Given the description of an element on the screen output the (x, y) to click on. 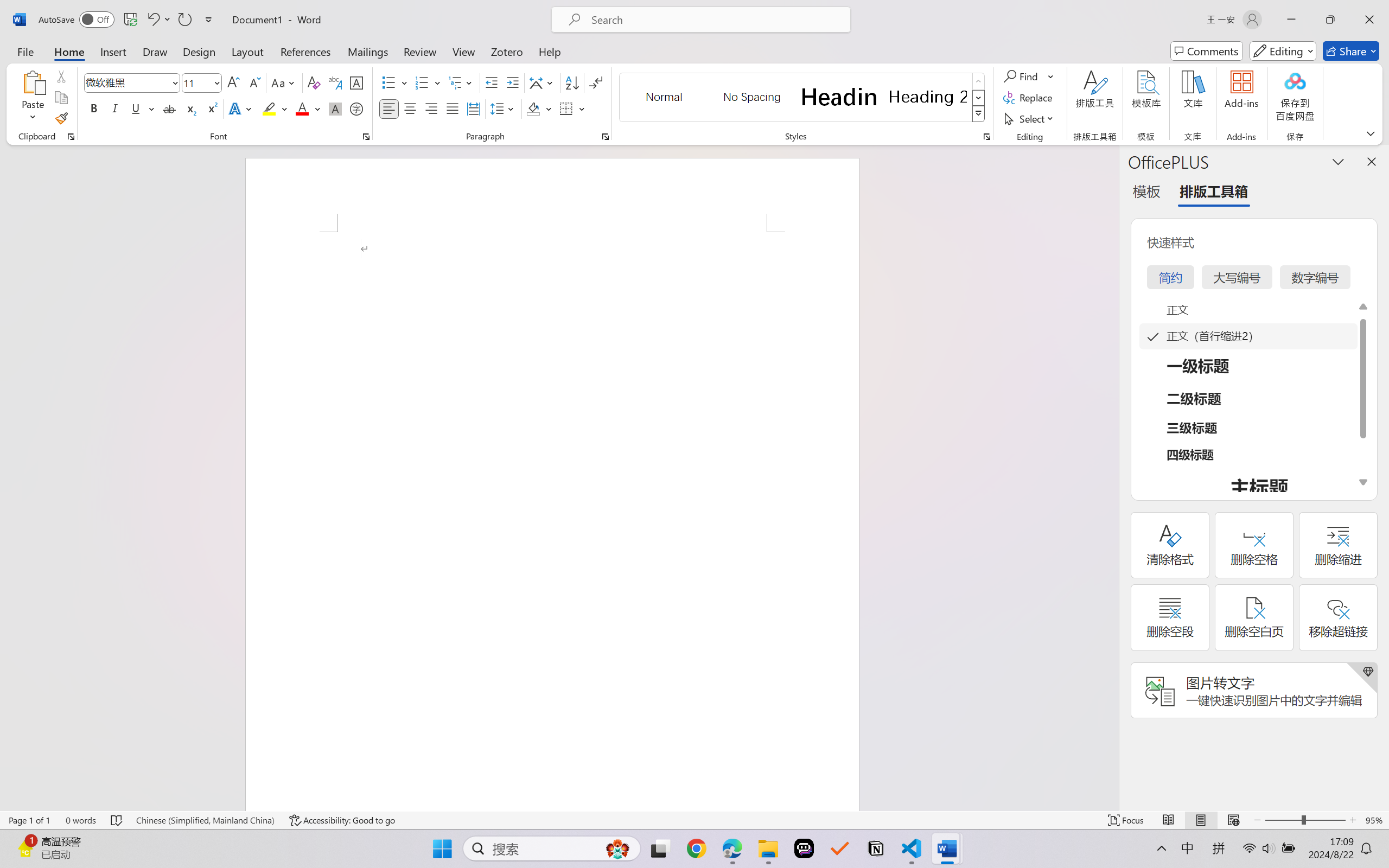
Font Color Red (302, 108)
